Given the description of an element on the screen output the (x, y) to click on. 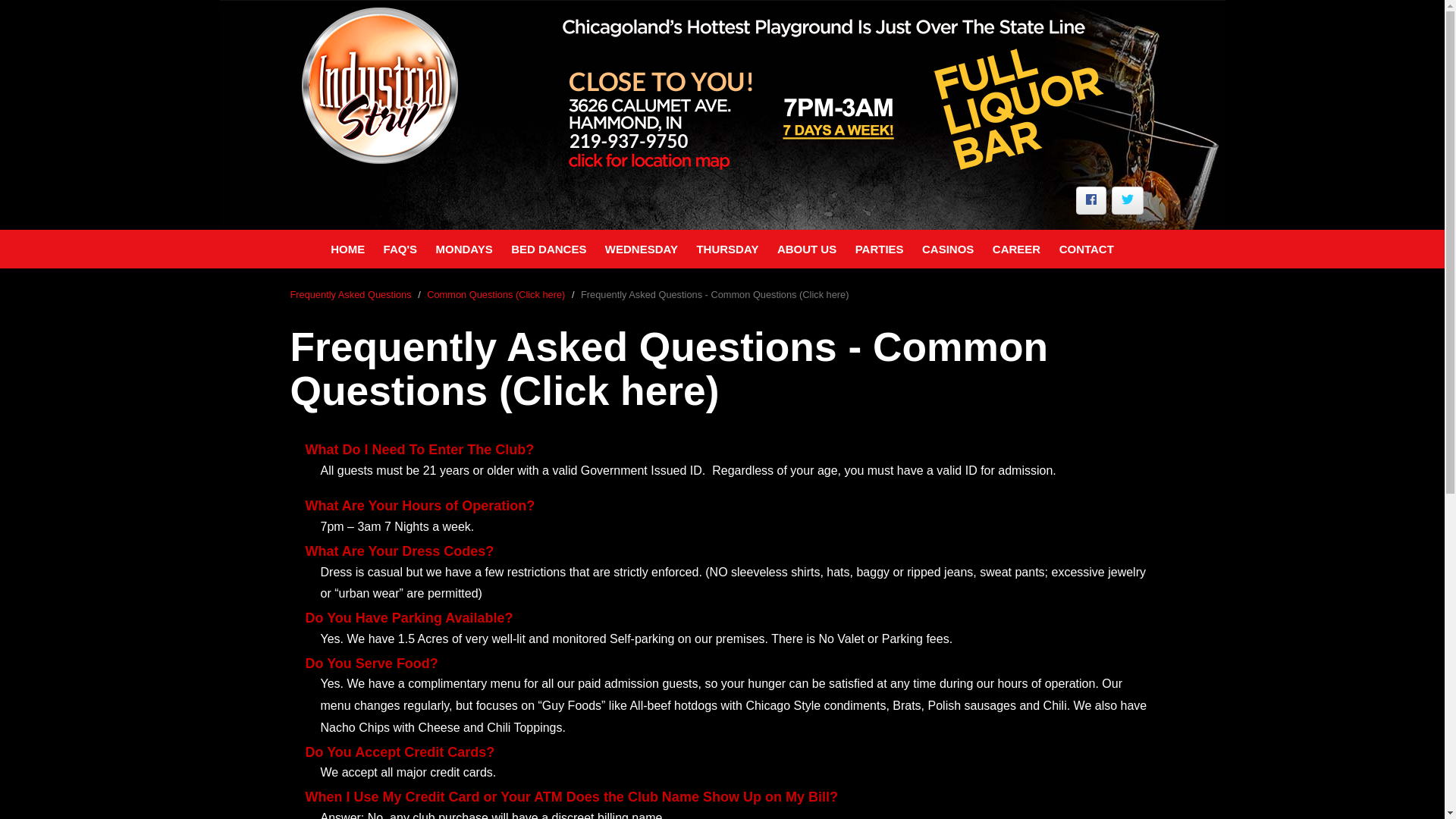
WEDNESDAY (640, 249)
HOME (347, 249)
THURSDAY (726, 249)
Home (398, 85)
FAQ'S (400, 249)
CONTACT (1086, 249)
Frequently Asked Questions (349, 294)
BED DANCES (548, 249)
CASINOS (947, 249)
CAREER (1016, 249)
MONDAYS (463, 249)
ABOUT US (807, 249)
PARTIES (879, 249)
